Given the description of an element on the screen output the (x, y) to click on. 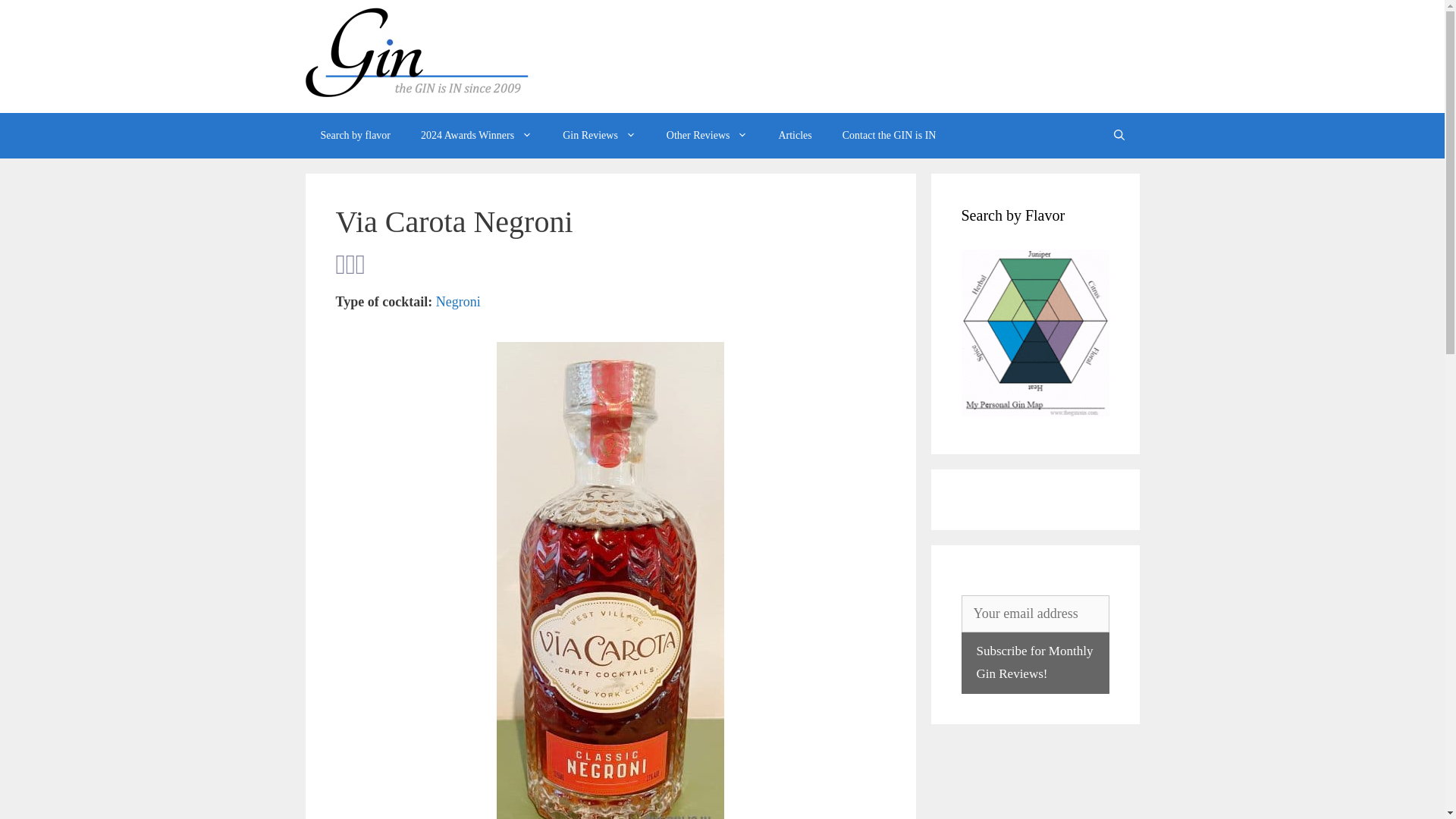
flavor search diagram (1034, 332)
2024 Awards Winners (476, 135)
the GIN is IN (415, 92)
Search by flavor (355, 135)
the GIN is IN (415, 55)
Gin Reviews (598, 135)
